Given the description of an element on the screen output the (x, y) to click on. 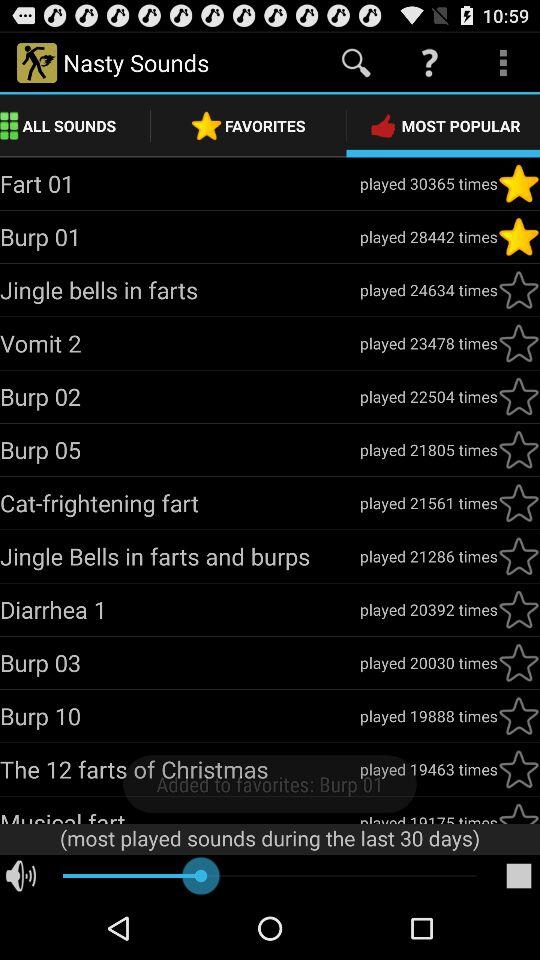
press burp 02 (180, 396)
